Given the description of an element on the screen output the (x, y) to click on. 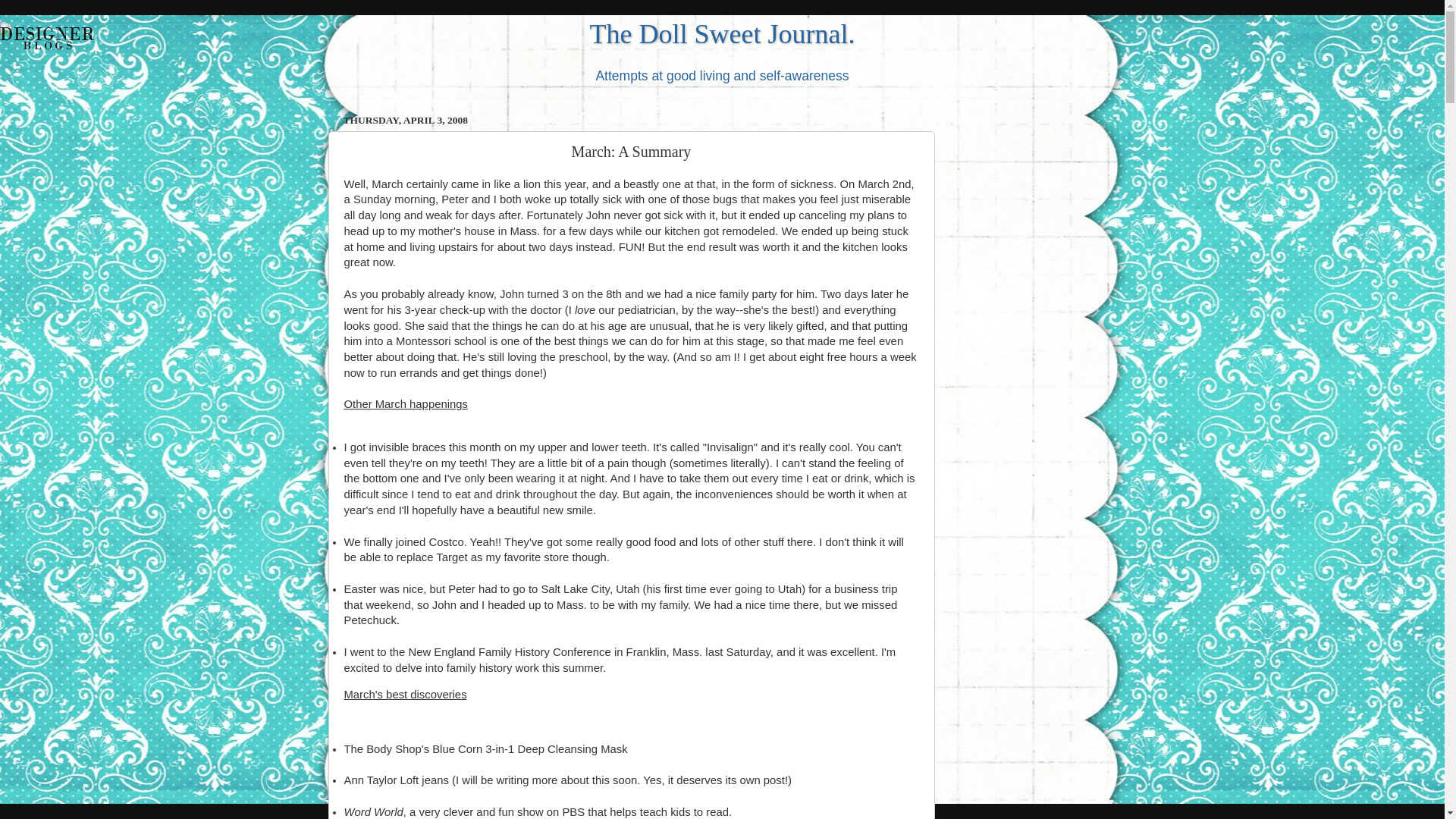
The Doll Sweet Journal. (722, 33)
